Given the description of an element on the screen output the (x, y) to click on. 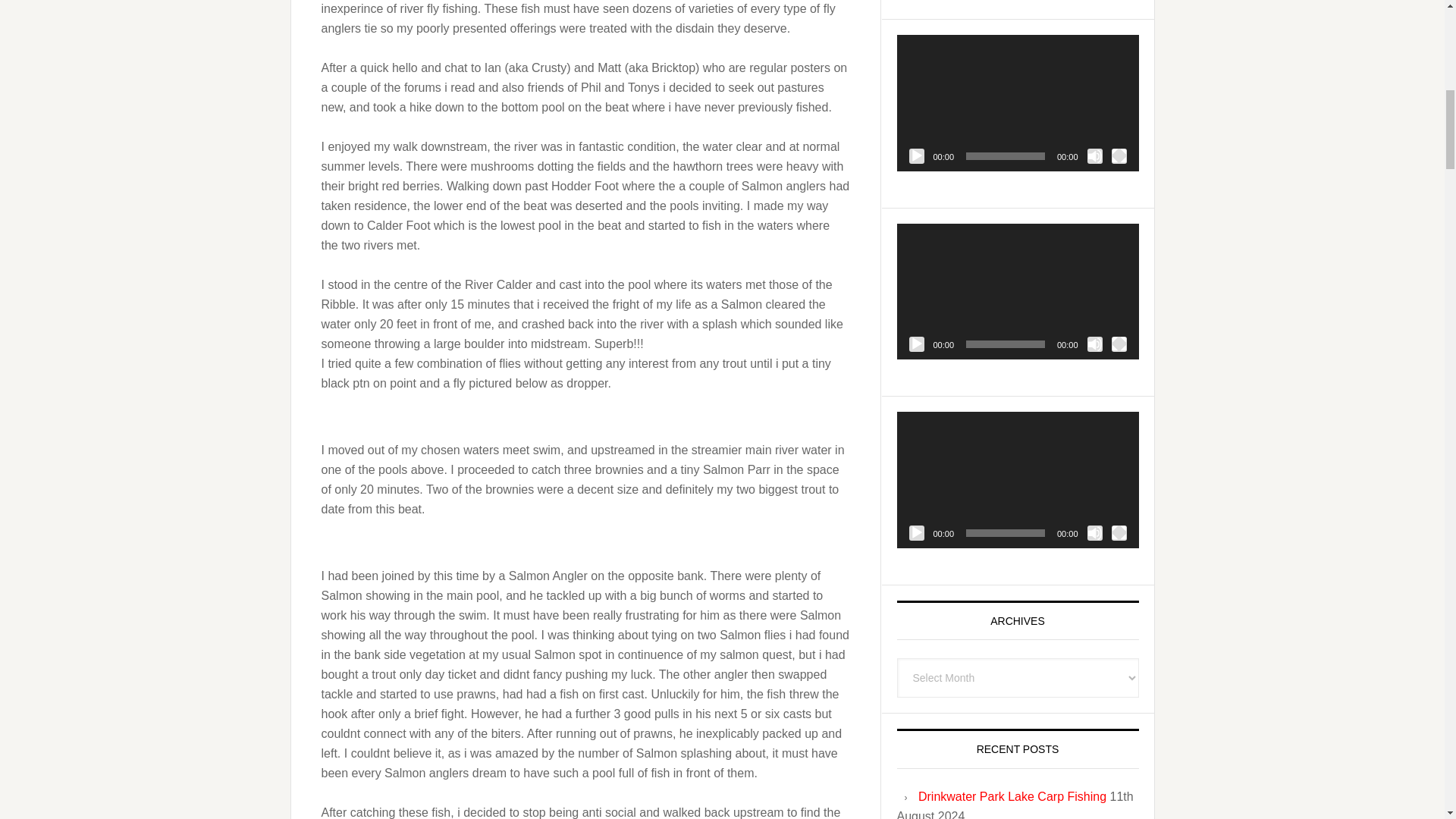
Play (915, 155)
Play (915, 344)
Mute (1094, 344)
Mute (1094, 155)
Fullscreen (1119, 155)
